Given the description of an element on the screen output the (x, y) to click on. 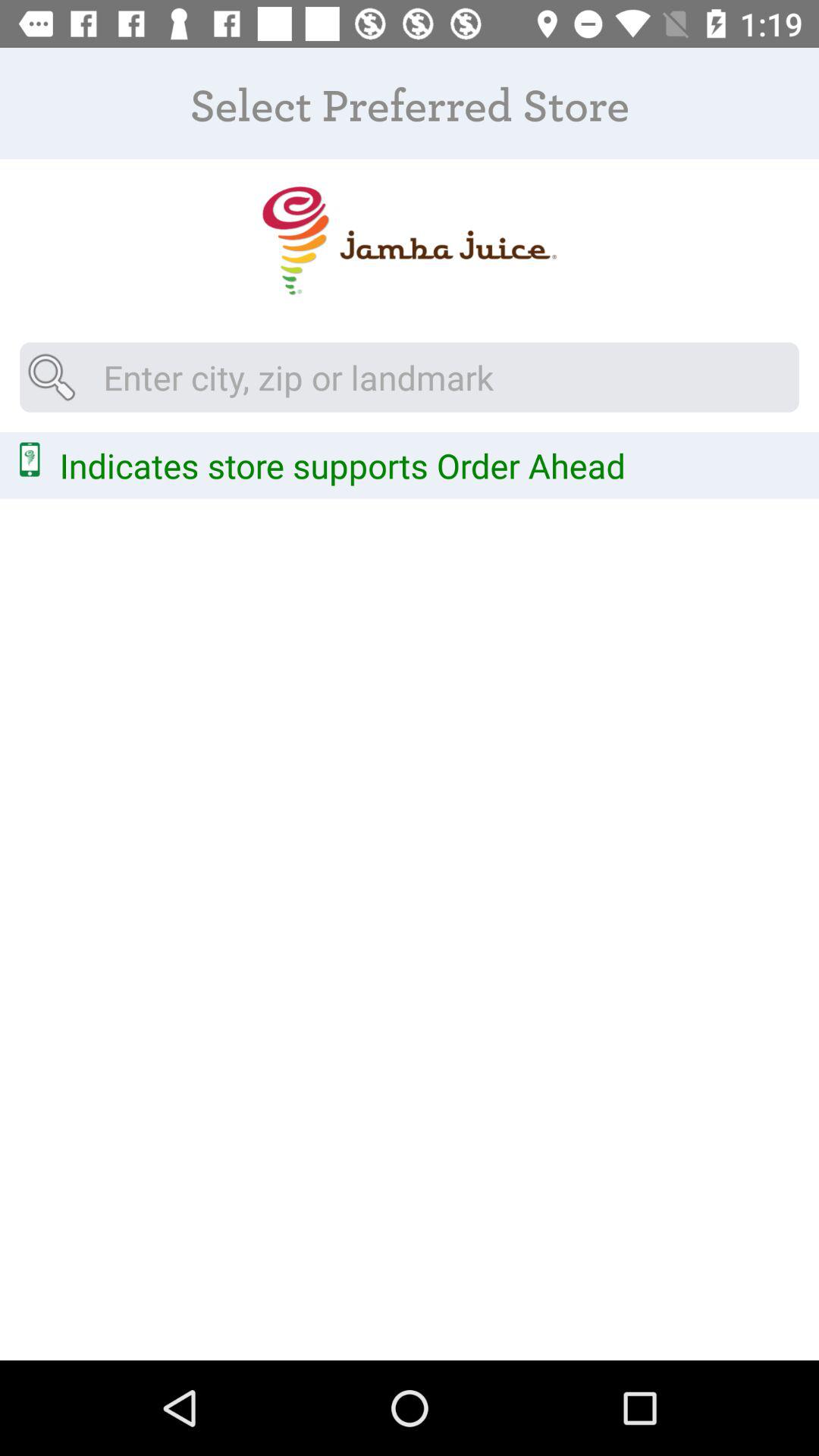
picture logo (408, 240)
